Given the description of an element on the screen output the (x, y) to click on. 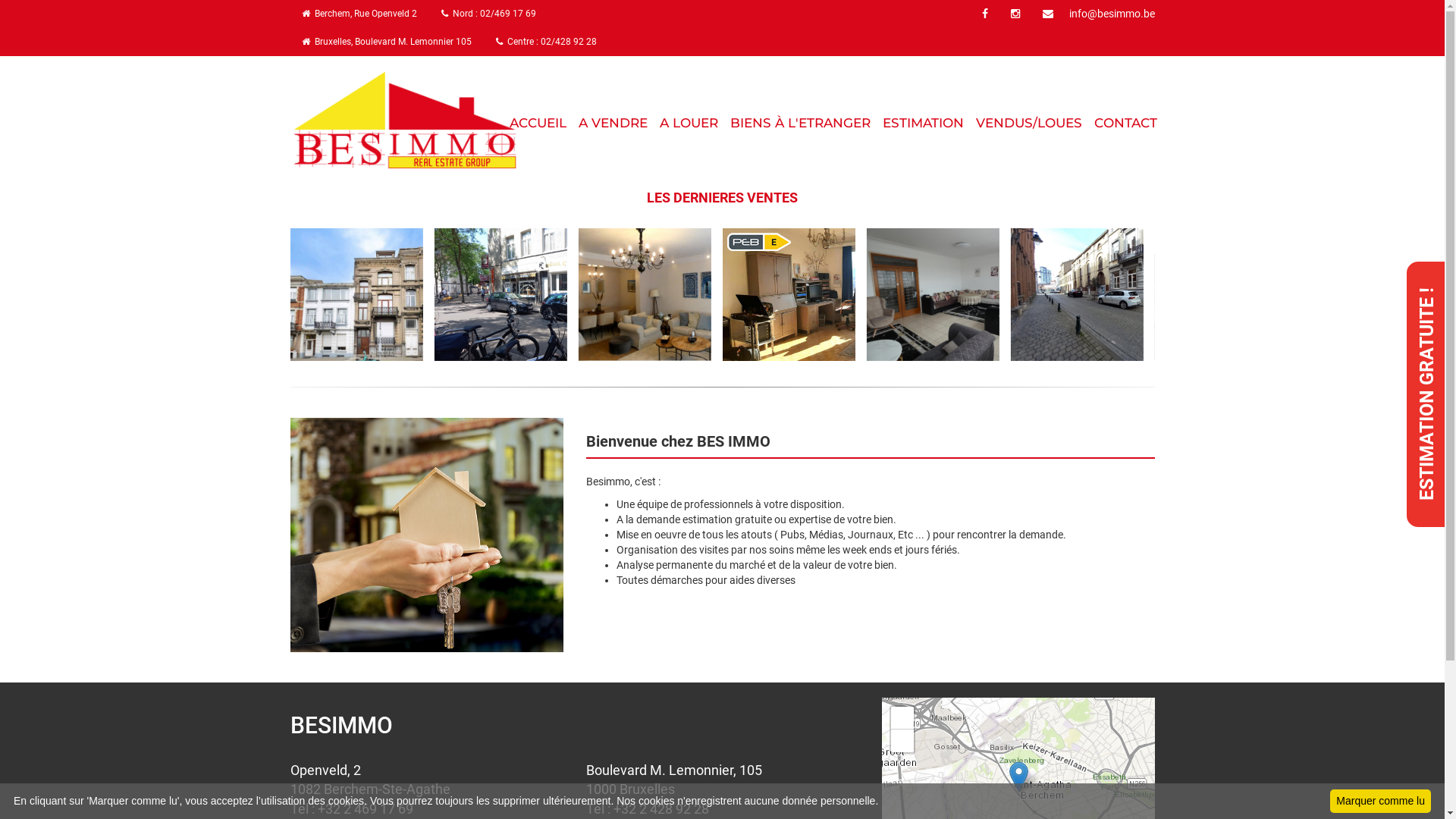
A LOUER Element type: text (688, 118)
+ Element type: text (901, 717)
CONTACT Element type: text (1125, 118)
ESTIMATION Element type: text (922, 118)
 info@besimmo.be Element type: text (1092, 13)
ACCUEIL Element type: text (537, 118)
VENDUS/LOUES Element type: text (1028, 118)
 Berchem, Rue Openveld 2 Element type: text (358, 14)
 Bruxelles, Boulevard M. Lemonnier 105 Element type: text (385, 42)
 Centre : 02/428 92 28 Element type: text (545, 42)
A VENDRE Element type: text (612, 118)
 Nord : 02/469 17 69 Element type: text (487, 14)
